Given the description of an element on the screen output the (x, y) to click on. 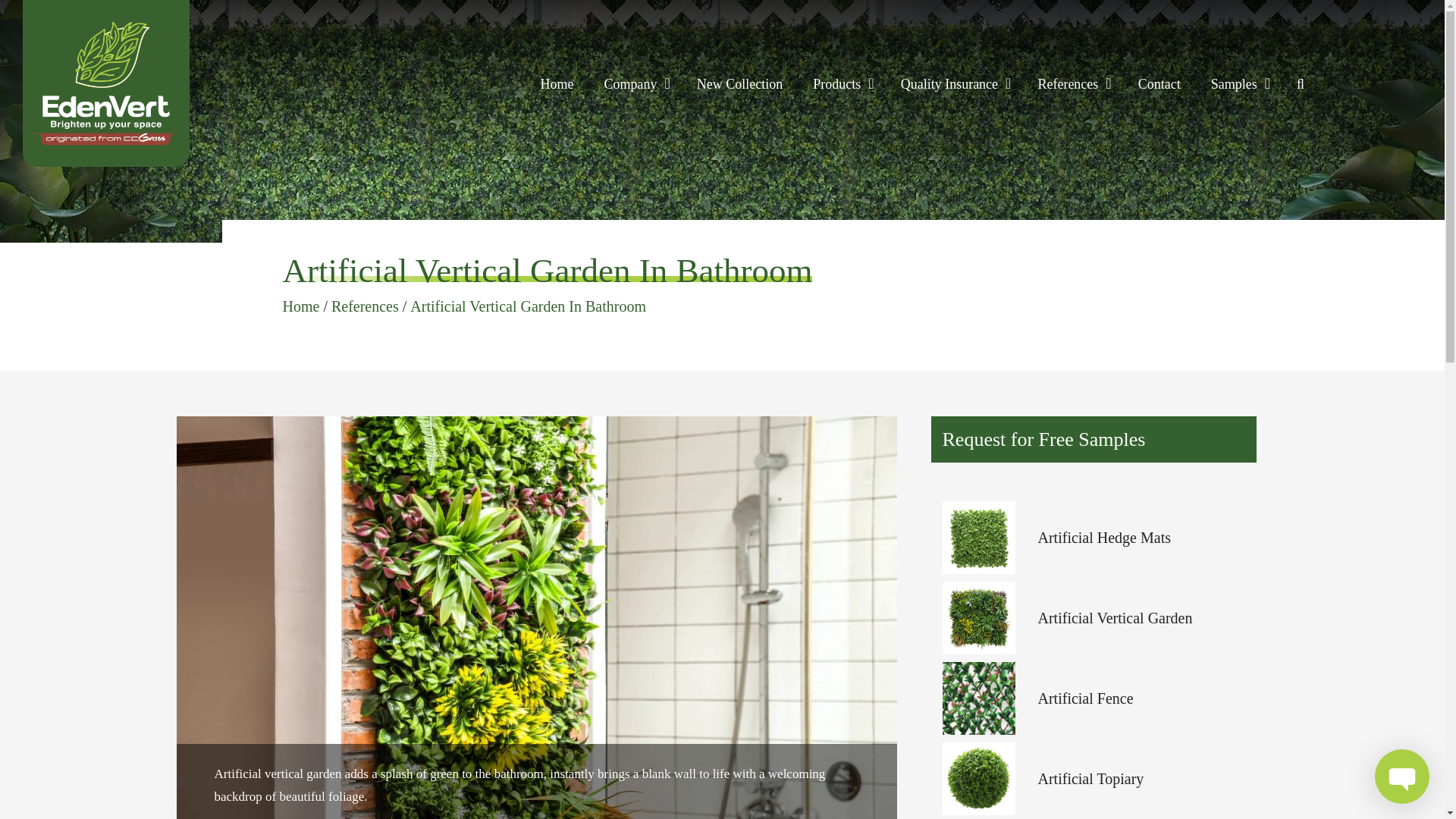
Home (557, 84)
EdenVert (106, 83)
Samples (1233, 84)
Quality Insurance (948, 84)
New Collection (739, 84)
Home (557, 84)
Company (630, 84)
Company (630, 84)
References (1067, 84)
Products (836, 84)
Contact (1159, 84)
Products (836, 84)
New Collection (739, 84)
